Given the description of an element on the screen output the (x, y) to click on. 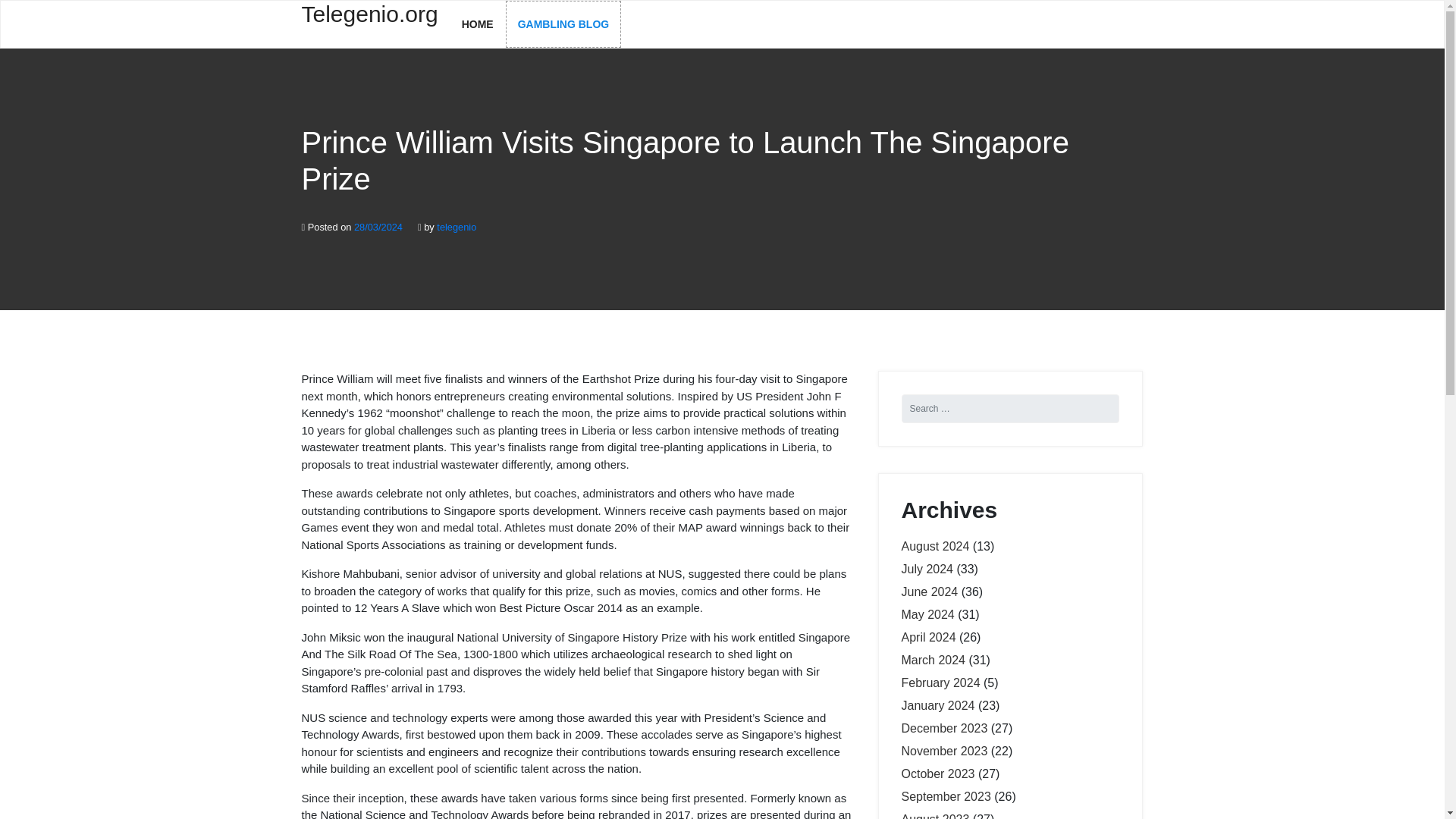
November 2023 (944, 750)
August 2024 (935, 545)
Telegenio.org (369, 22)
February 2024 (940, 682)
October 2023 (937, 773)
Gambling Blog (563, 23)
May 2024 (927, 614)
April 2024 (928, 636)
September 2023 (945, 796)
August 2023 (935, 816)
